Given the description of an element on the screen output the (x, y) to click on. 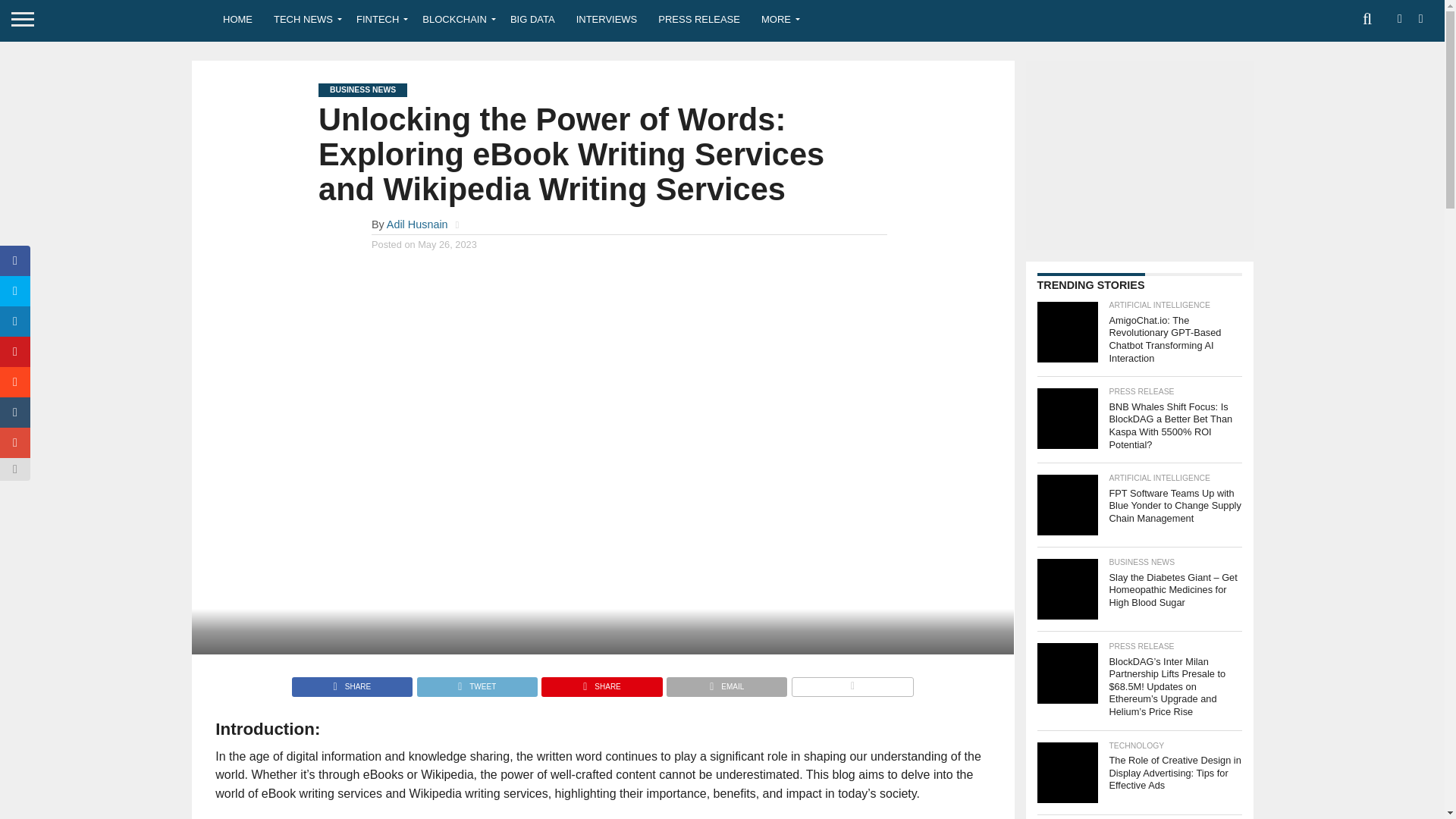
Posts by Adil Husnain (417, 224)
Pin This Post (601, 682)
Tweet This Post (476, 682)
Share on Facebook (352, 682)
